Given the description of an element on the screen output the (x, y) to click on. 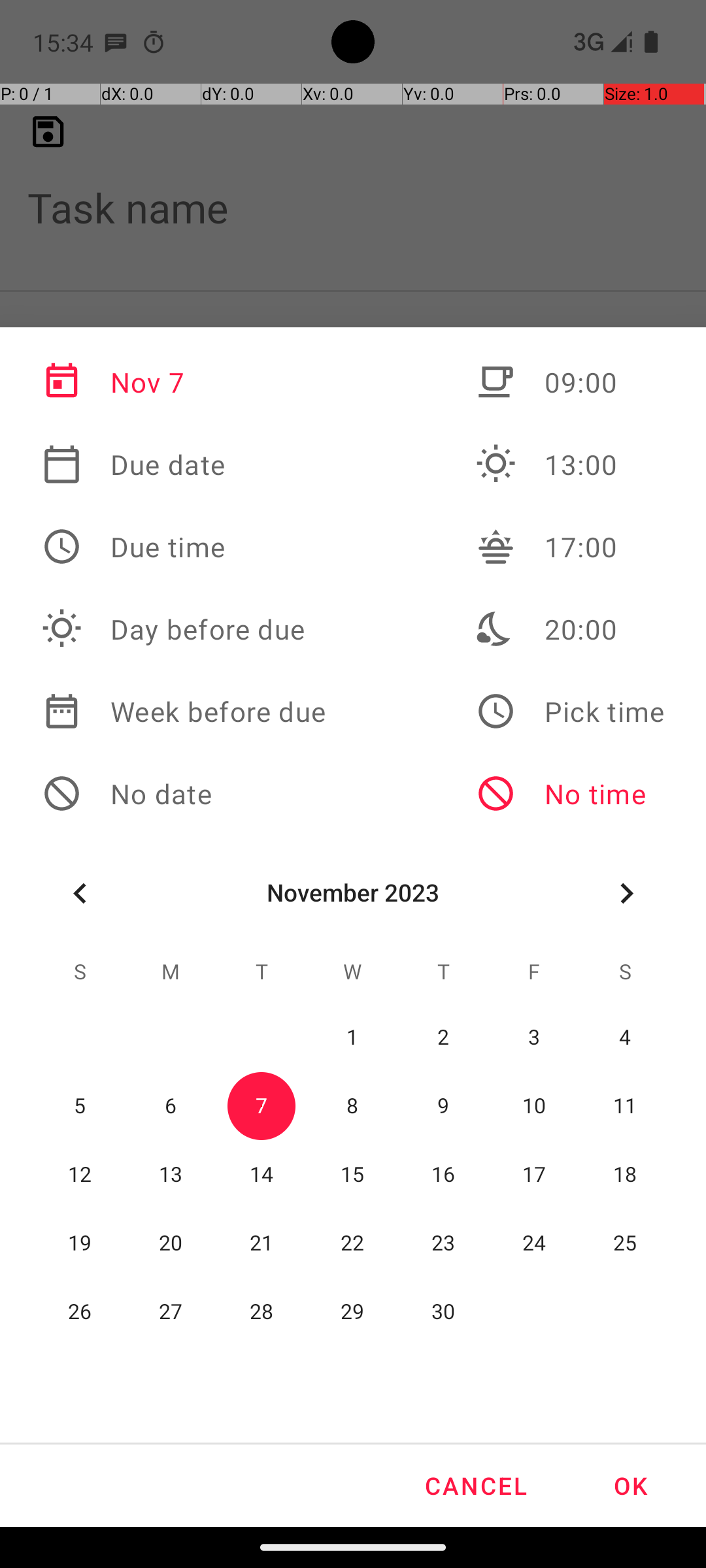
Nov 7 Element type: android.widget.CompoundButton (183, 382)
